Given the description of an element on the screen output the (x, y) to click on. 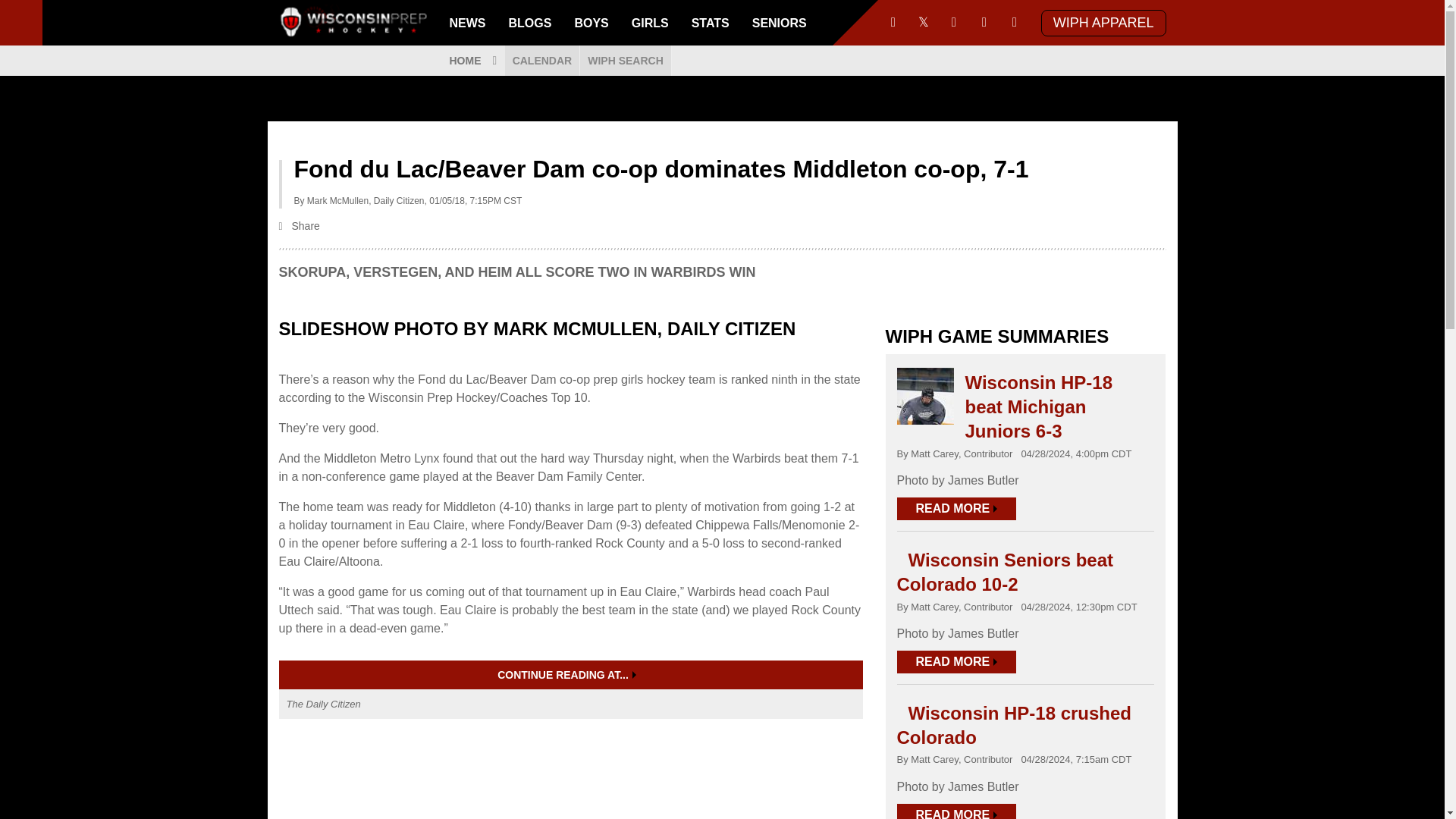
CALENDAR (542, 60)
WIPH APPAREL (1103, 22)
X App (923, 22)
STATS (710, 22)
HOME (471, 60)
click to go to 'Wisconsin Prep Hockey Blogs' (530, 22)
BOYS (591, 22)
YouTube (953, 22)
Facebook (893, 22)
READ MORE (956, 508)
Wisconsin HP-18 crushed Colorado (1013, 724)
click to go to 'Seniors' (779, 22)
click to go to 'Girls Varsity Hockey' (649, 22)
click to go to 'News' (467, 22)
BLOGS (530, 22)
